Given the description of an element on the screen output the (x, y) to click on. 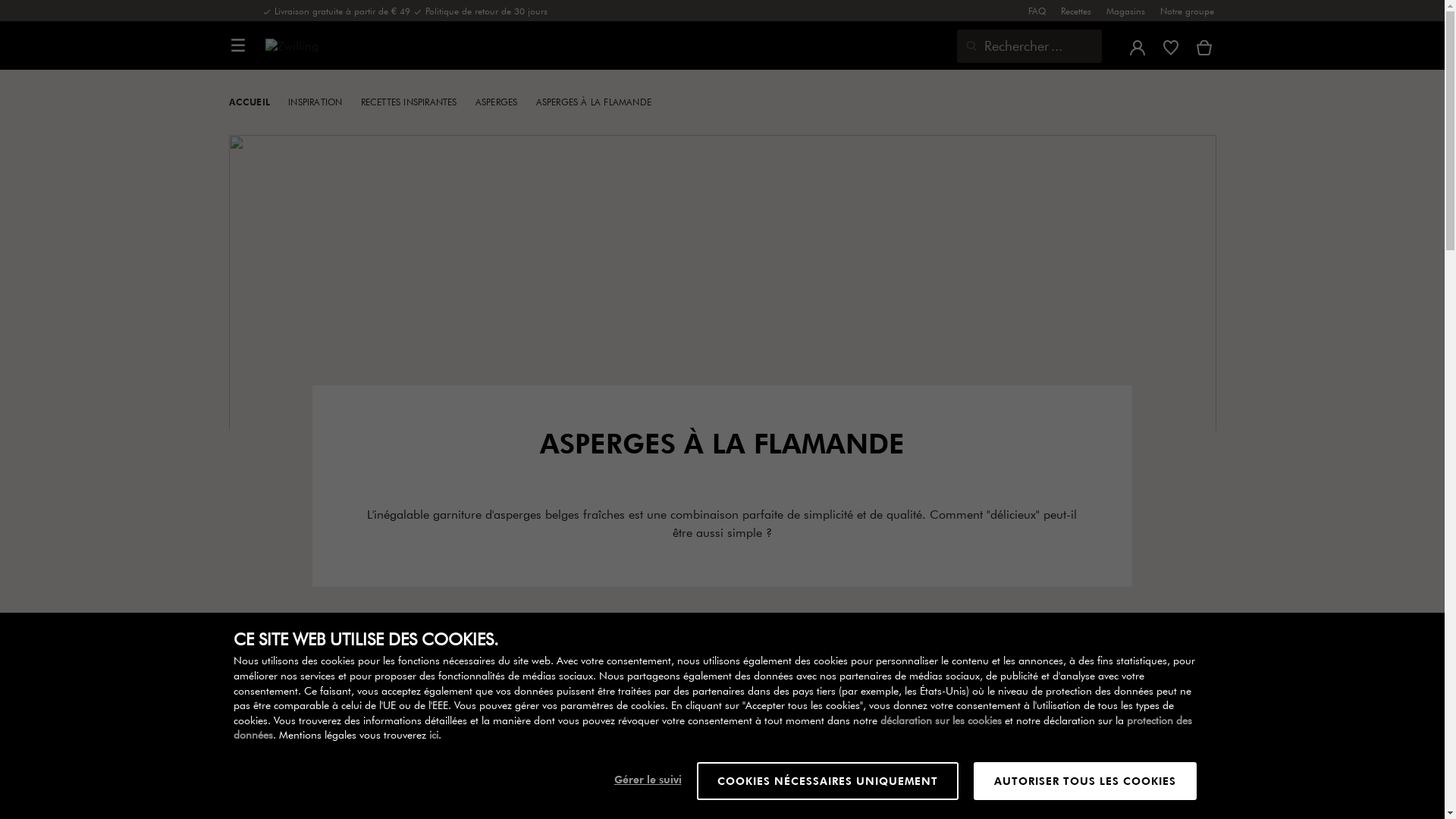
INSPIRATION Element type: text (322, 101)
Cooktime Element type: hover (958, 724)
Liste de souhaits Element type: hover (1170, 45)
ASPERGES Element type: text (503, 101)
ACCUEIL Element type: text (257, 101)
ici Element type: text (433, 734)
Rechercher Element type: hover (967, 46)
Voir le panier Element type: hover (1204, 45)
Prep in Element type: hover (833, 724)
Porties Element type: hover (708, 724)
RECETTES INSPIRANTES Element type: text (415, 101)
AUTORISER TOUS LES COOKIES Element type: text (1084, 781)
Recettes Element type: text (1075, 10)
Notre groupe Element type: text (1186, 10)
Magasins Element type: text (1125, 10)
FAQ Element type: text (1036, 10)
Zwilling Element type: hover (313, 45)
